Given the description of an element on the screen output the (x, y) to click on. 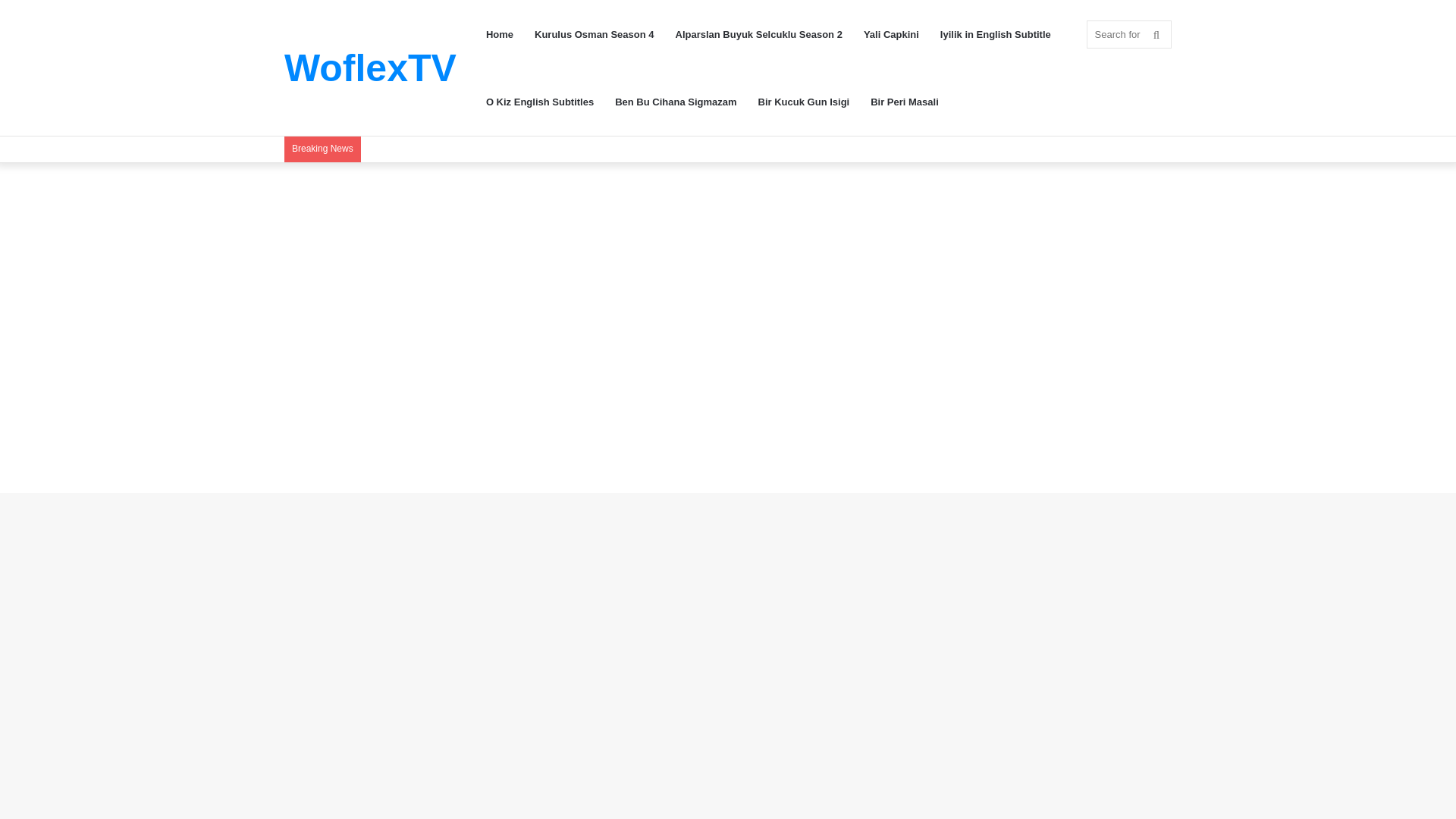
Bir Kucuk Gun Isigi (804, 101)
Yali Capkini (891, 33)
Bir Peri Masali (904, 101)
Search for (1129, 34)
Kurulus Osman Season 4 (594, 33)
Ben Bu Cihana Sigmazam (675, 101)
Iyilik in English Subtitle (995, 33)
WoflexTV (370, 67)
O Kiz English Subtitles (540, 101)
Alparslan Buyuk Selcuklu Season 2 (759, 33)
